Given the description of an element on the screen output the (x, y) to click on. 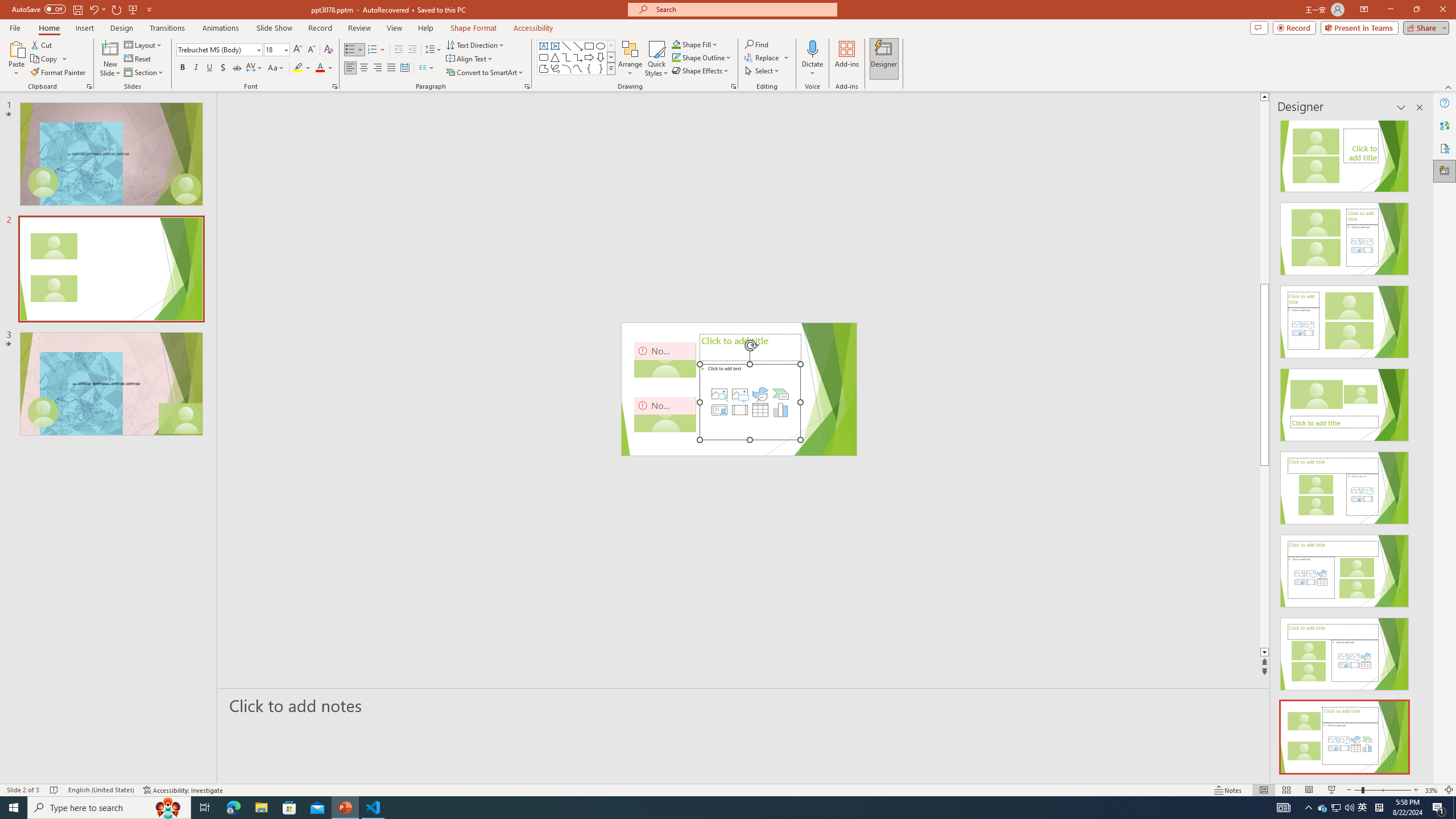
Title TextBox (663, 389)
Shape Format (473, 28)
Camera 3, No camera detected. (685, 388)
